Given the description of an element on the screen output the (x, y) to click on. 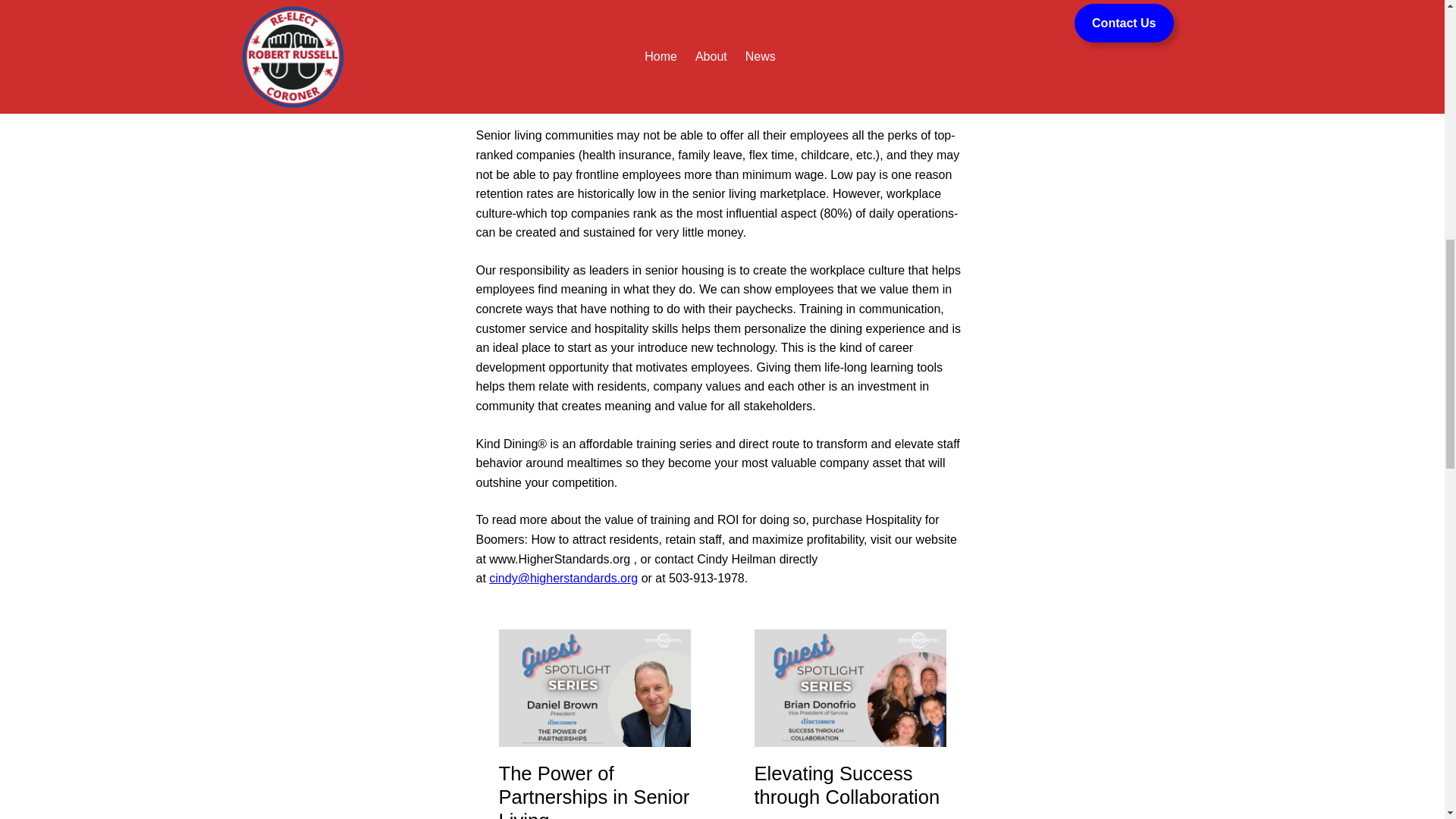
The Power of Partnerships in Senior Living (594, 790)
Elevating Success through Collaboration (849, 785)
